Given the description of an element on the screen output the (x, y) to click on. 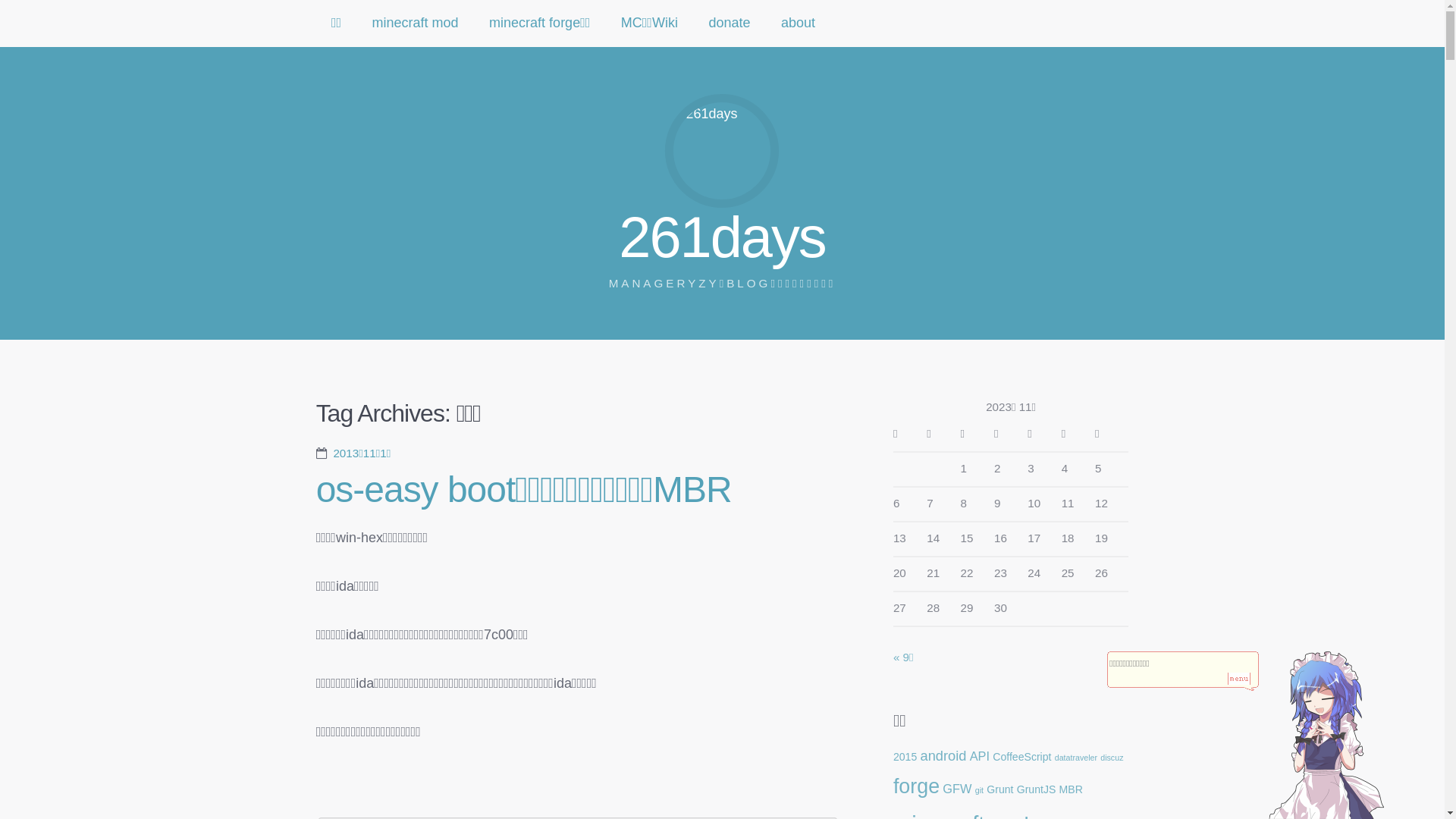
about Element type: text (798, 23)
Grunt Element type: text (999, 789)
API Element type: text (979, 755)
donate Element type: text (729, 23)
minecraft mod Element type: text (414, 23)
GruntJS Element type: text (1036, 789)
datatraveler Element type: text (1075, 757)
CoffeeScript Element type: text (1021, 756)
MBR Element type: text (1070, 789)
discuz Element type: text (1111, 757)
forge Element type: text (916, 786)
git Element type: text (979, 789)
GFW Element type: text (956, 788)
android Element type: text (942, 755)
2015 Element type: text (904, 756)
